Given the description of an element on the screen output the (x, y) to click on. 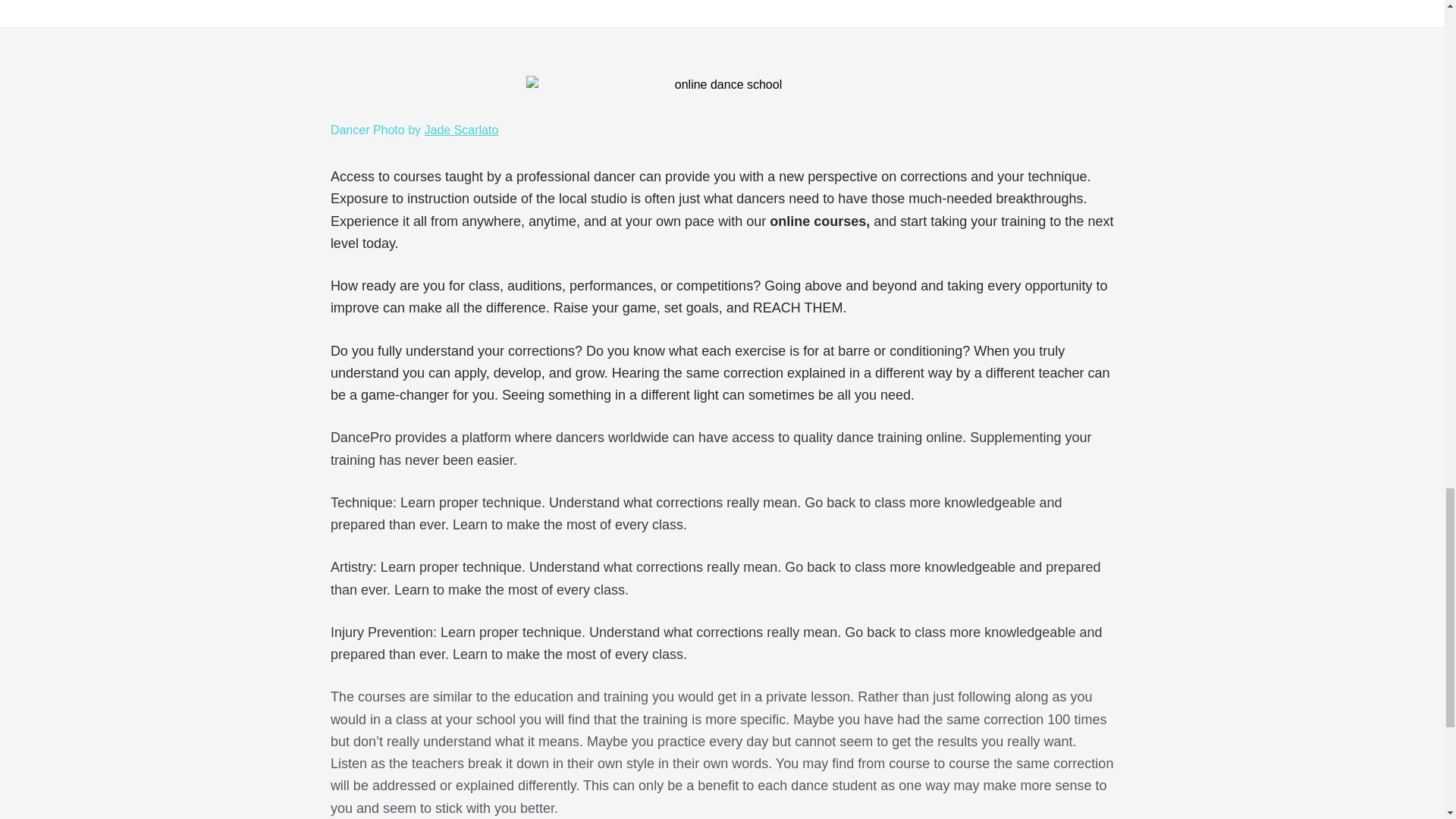
Jade Scarlato (462, 129)
